Given the description of an element on the screen output the (x, y) to click on. 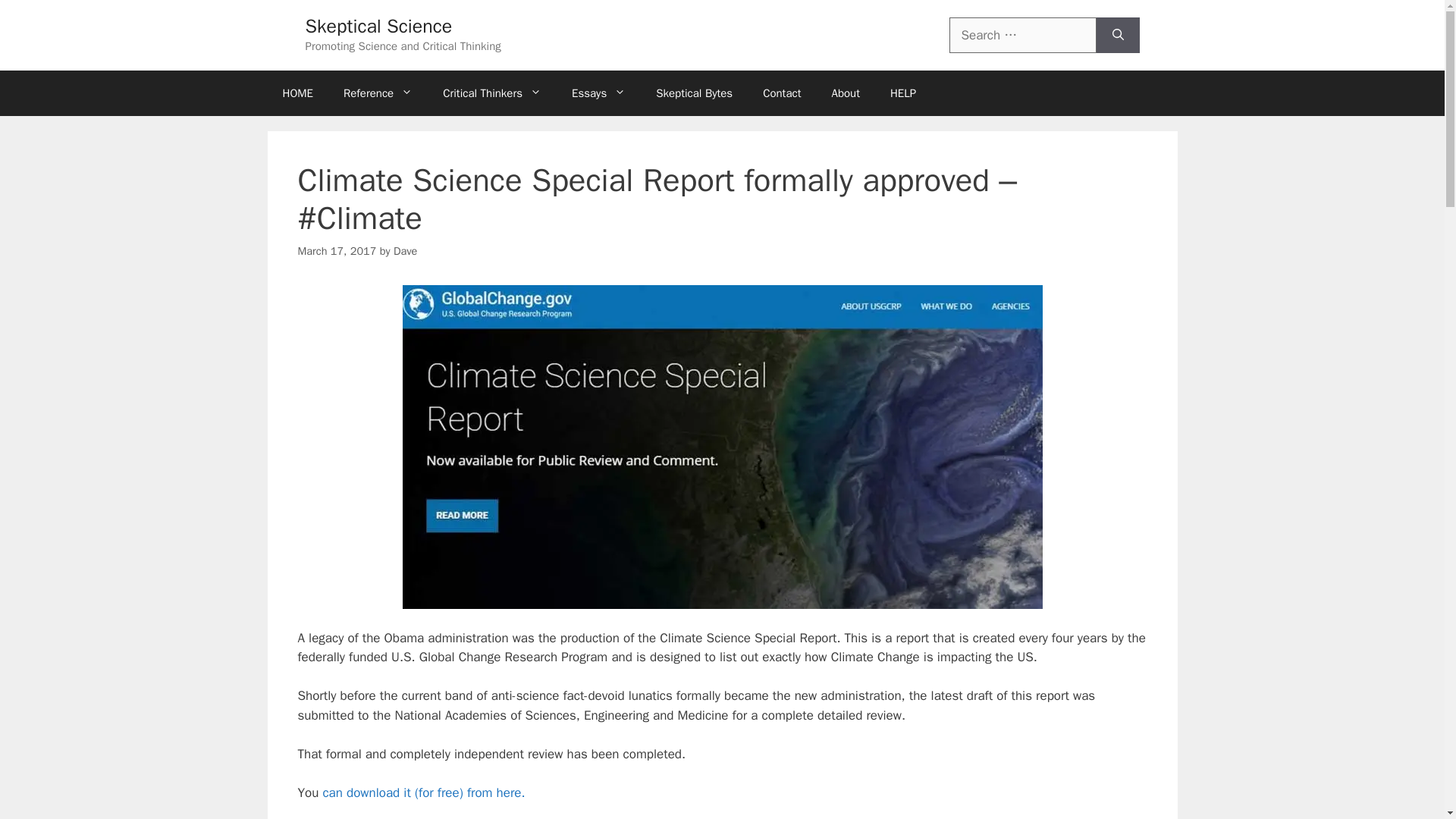
HOME (296, 92)
Skeptical Bytes (694, 92)
Critical Thinkers (492, 92)
Search for: (1022, 34)
HELP (903, 92)
About (845, 92)
Contact (781, 92)
Reference (378, 92)
Skeptical Science (377, 25)
Dave (404, 250)
Essays (598, 92)
View all posts by Dave (404, 250)
